Given the description of an element on the screen output the (x, y) to click on. 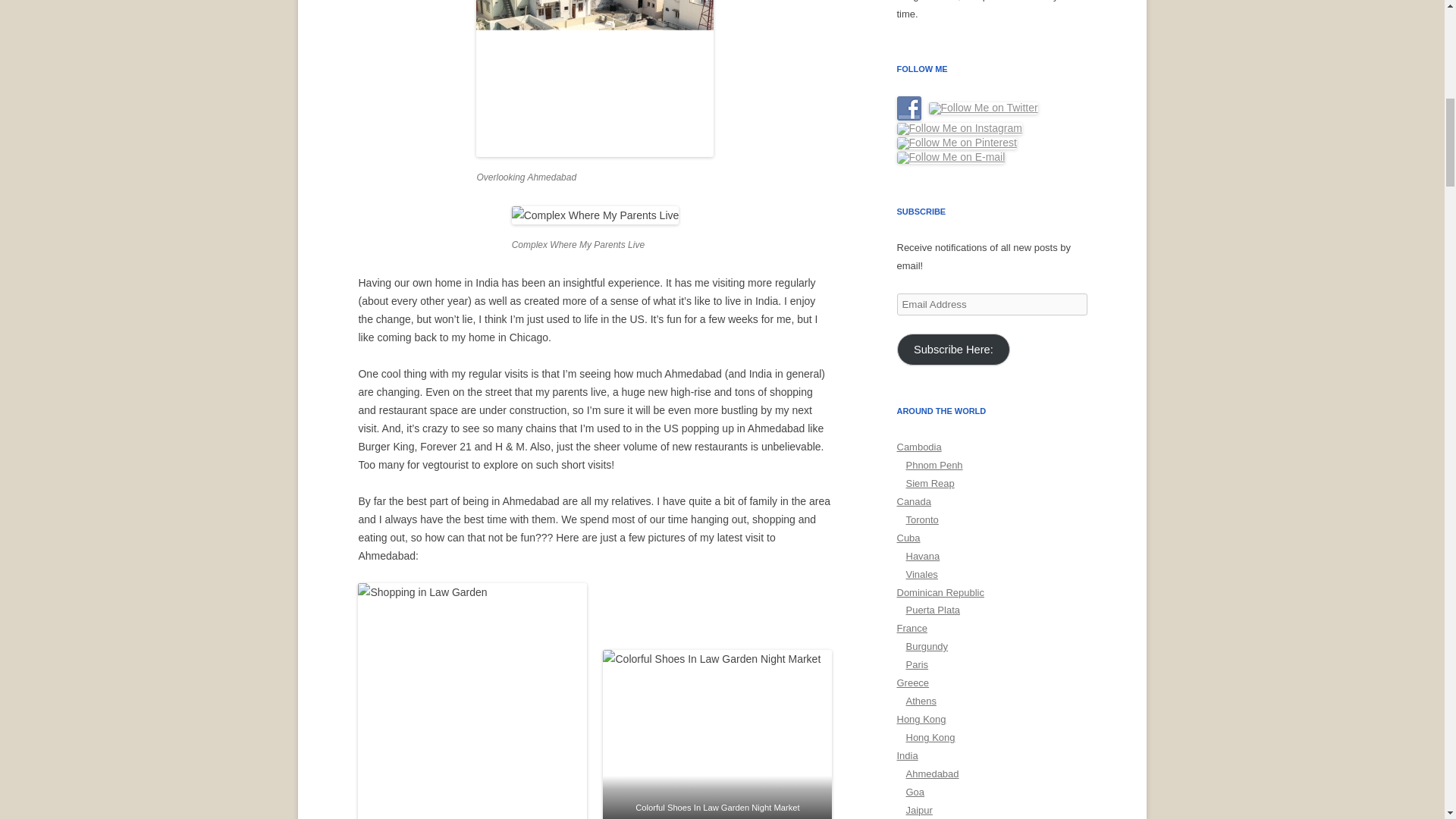
Follow Me on Pinterest (956, 143)
Follow Me on Instagram (959, 128)
Follow Me on Facebook (908, 108)
Follow Me on Twitter (982, 108)
